Given the description of an element on the screen output the (x, y) to click on. 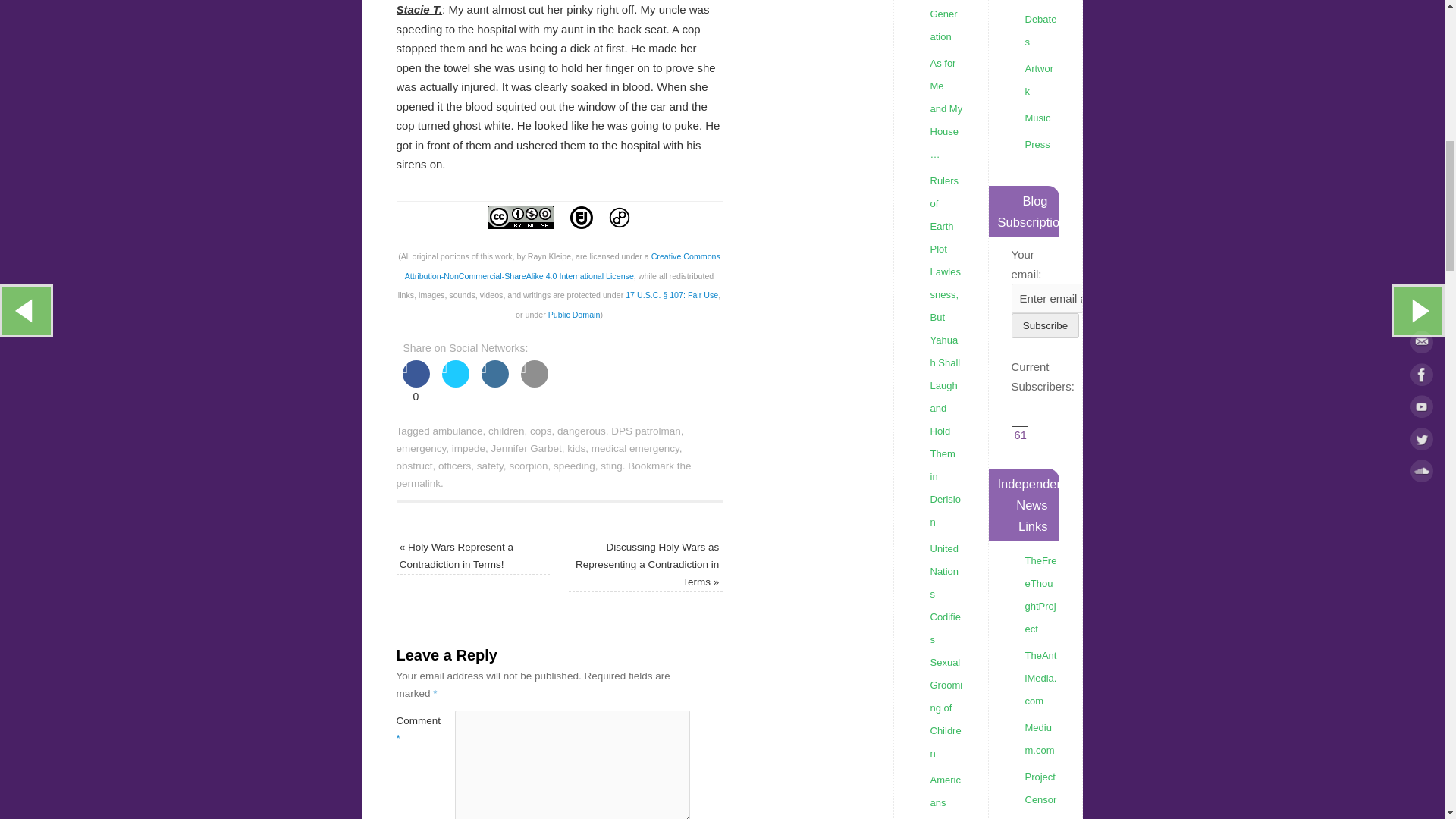
cops (540, 430)
ambulance (457, 430)
children (505, 430)
Enter email address... (1091, 297)
Subscribe (1045, 324)
Public Domain (573, 314)
